Given the description of an element on the screen output the (x, y) to click on. 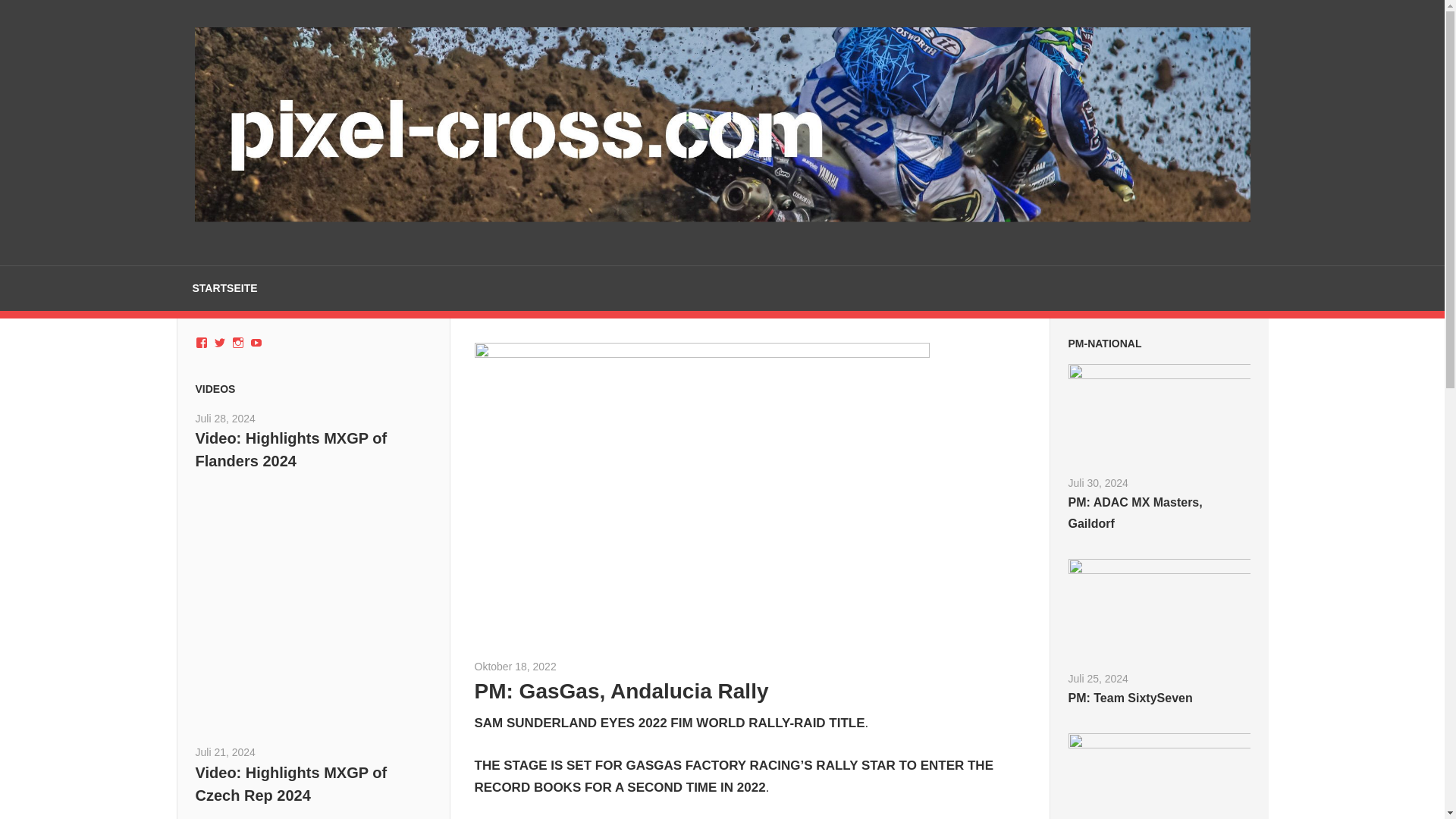
8:41 pm (225, 752)
8:10 pm (1096, 482)
7:55 pm (225, 418)
Juli 28, 2024 (225, 418)
Video: Highlights MXGP of Flanders 2024 (291, 449)
Profil von pixel-cross.com auf Facebook anzeigen (201, 342)
Juli 25, 2024 (1096, 678)
Sonstiges (662, 666)
STARTSEITE (224, 289)
PM-NATIONAL (1104, 343)
Juli 21, 2024 (225, 752)
Profil von pixelcrosscom auf Twitter anzeigen (219, 342)
VIDEOS (215, 388)
Juli 30, 2024 (1096, 482)
PM: ADAC MX Masters, Gaildorf (1134, 512)
